Given the description of an element on the screen output the (x, y) to click on. 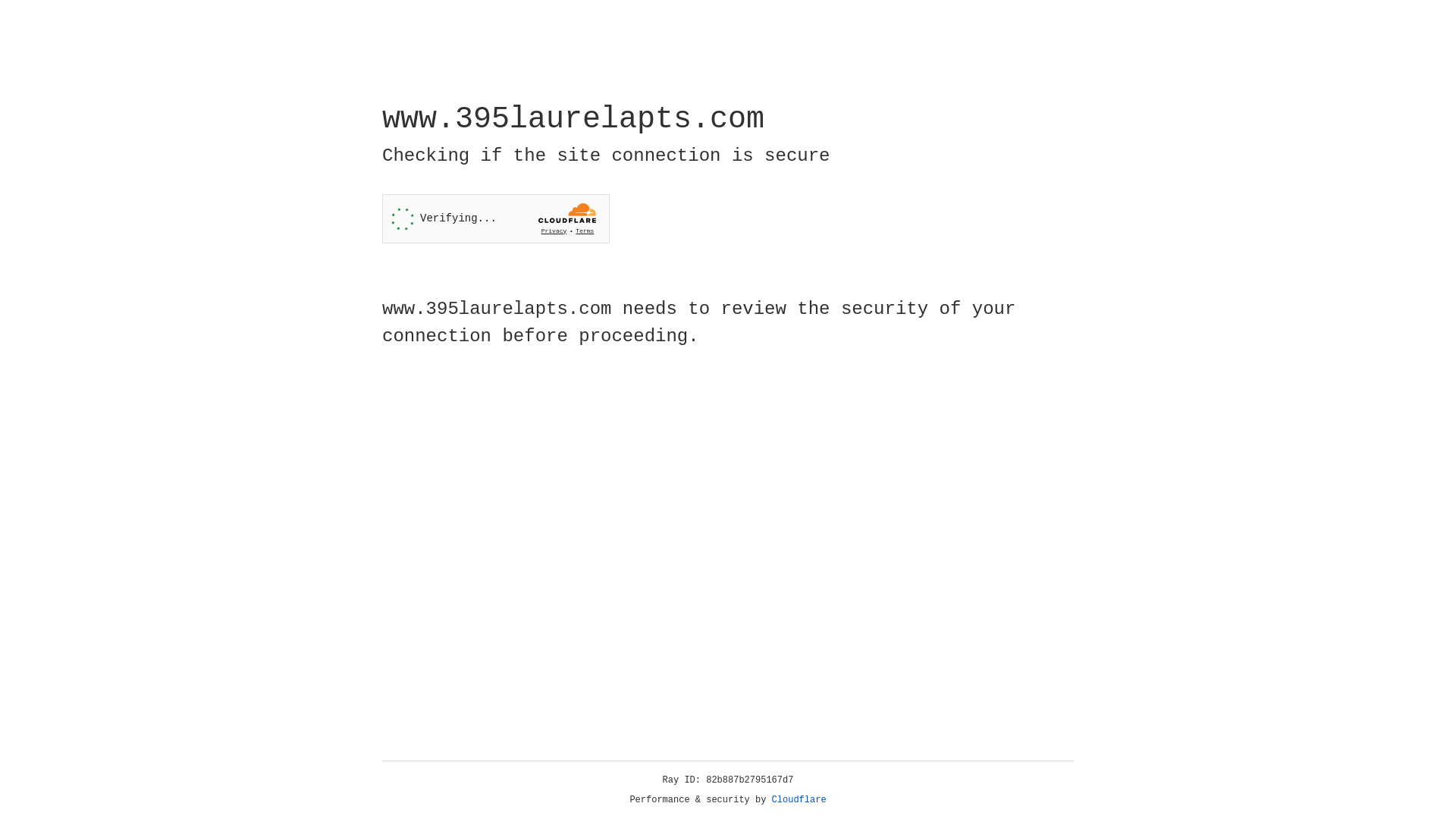
Widget containing a Cloudflare security challenge Element type: hover (495, 218)
Cloudflare Element type: text (798, 799)
